Given the description of an element on the screen output the (x, y) to click on. 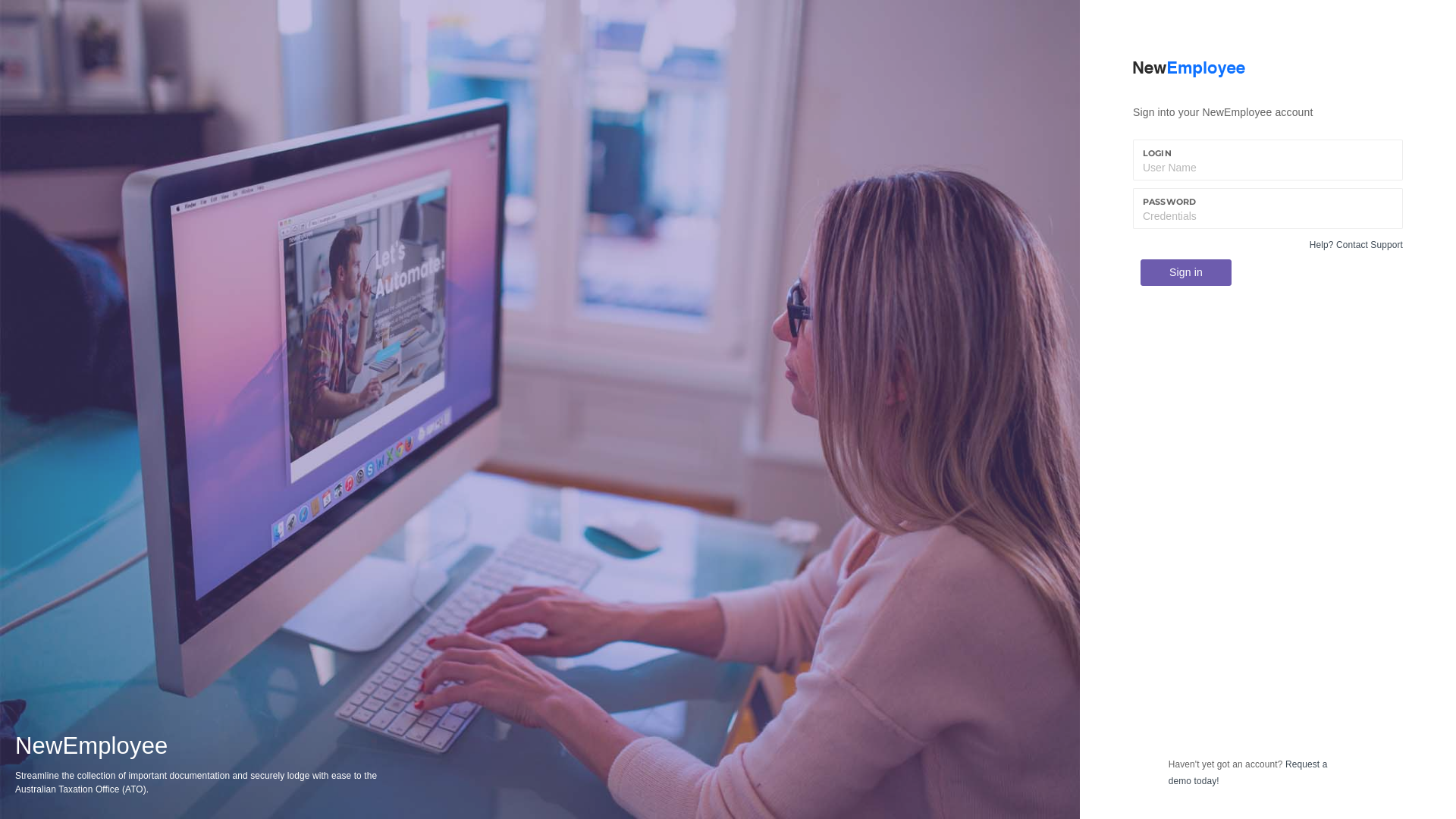
Help? Contact Support Element type: text (1355, 244)
Sign in Element type: text (1185, 272)
Request a demo today! Element type: text (1247, 772)
